Given the description of an element on the screen output the (x, y) to click on. 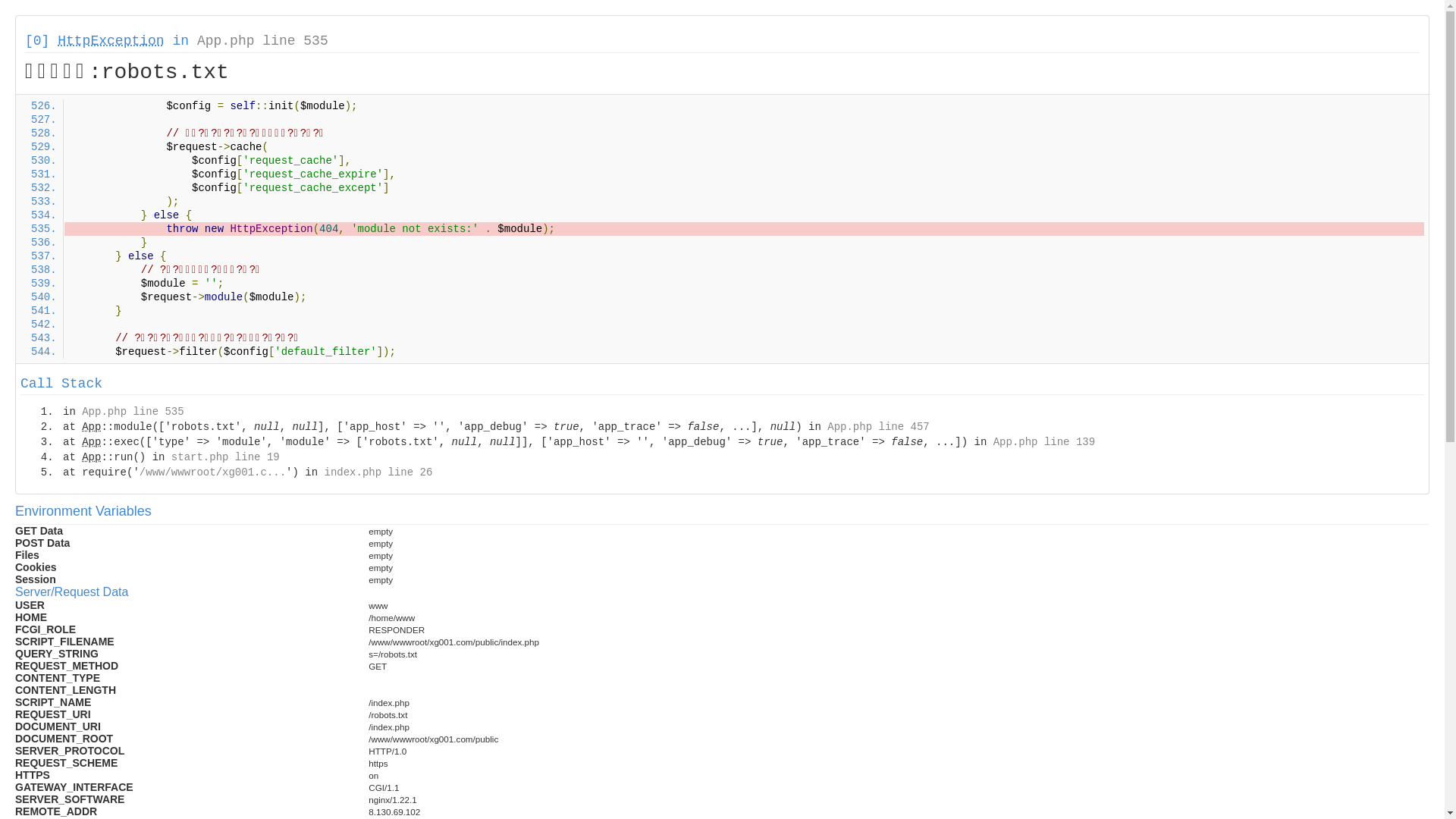
App.php line 535 Element type: text (132, 411)
start.php line 19 Element type: text (225, 457)
App.php line 535 Element type: text (262, 40)
/www/wwwroot/xg001.c... Element type: text (212, 472)
index.php line 26 Element type: text (377, 472)
App.php line 457 Element type: text (877, 426)
App.php line 139 Element type: text (1044, 442)
